Given the description of an element on the screen output the (x, y) to click on. 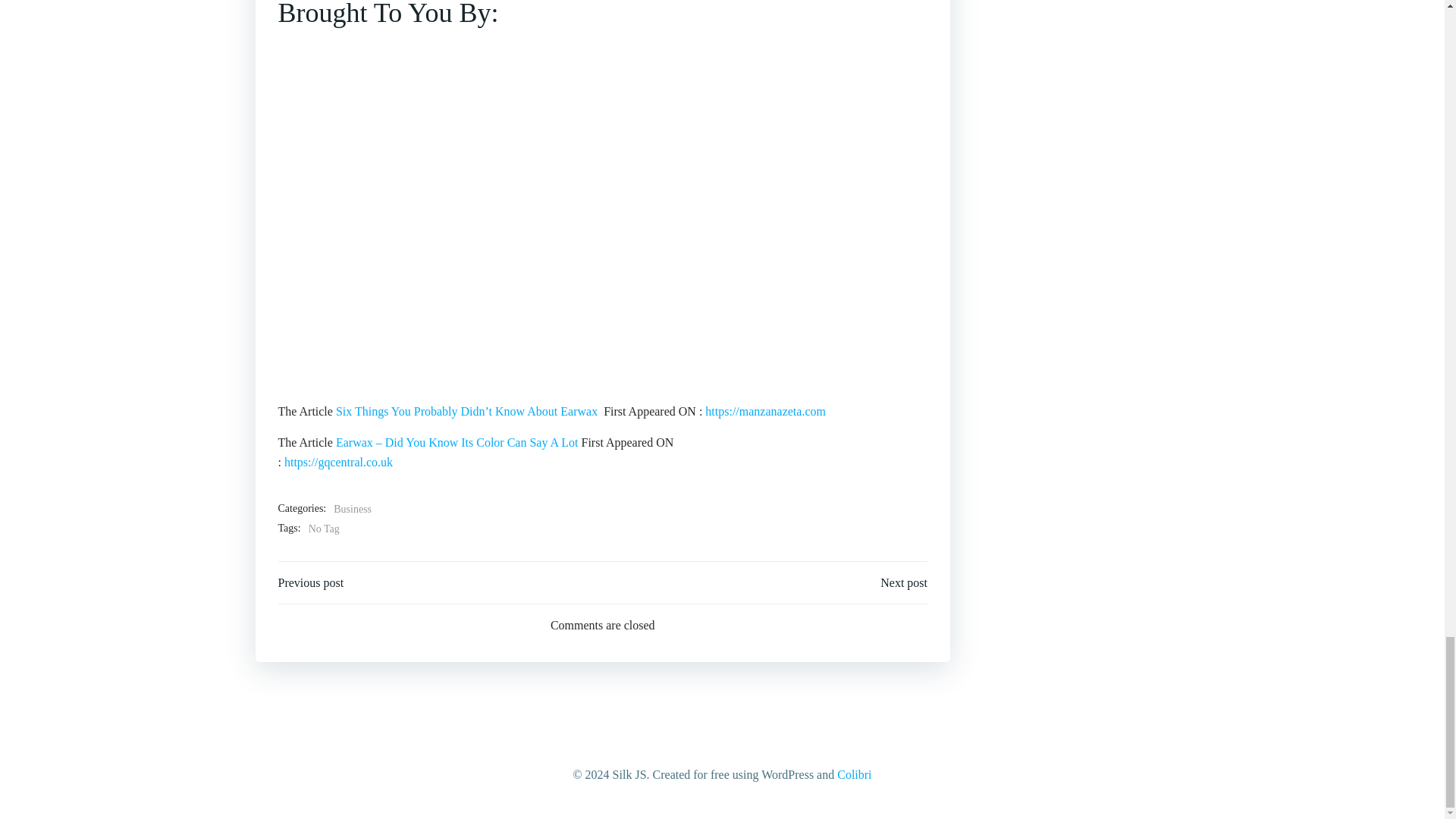
Next post (903, 583)
Previous post (310, 583)
Colibri (853, 774)
Business (352, 509)
